Given the description of an element on the screen output the (x, y) to click on. 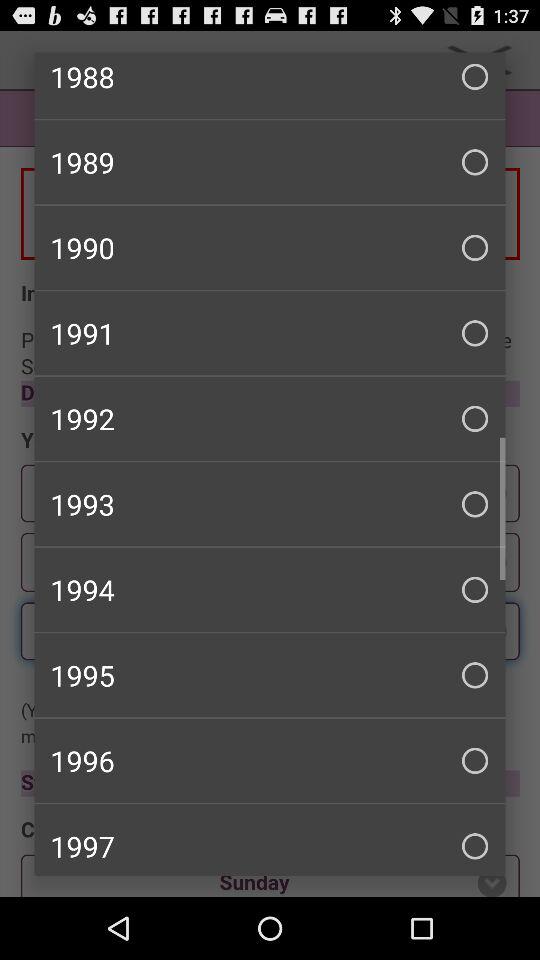
turn off the checkbox below the 1991 (269, 418)
